Given the description of an element on the screen output the (x, y) to click on. 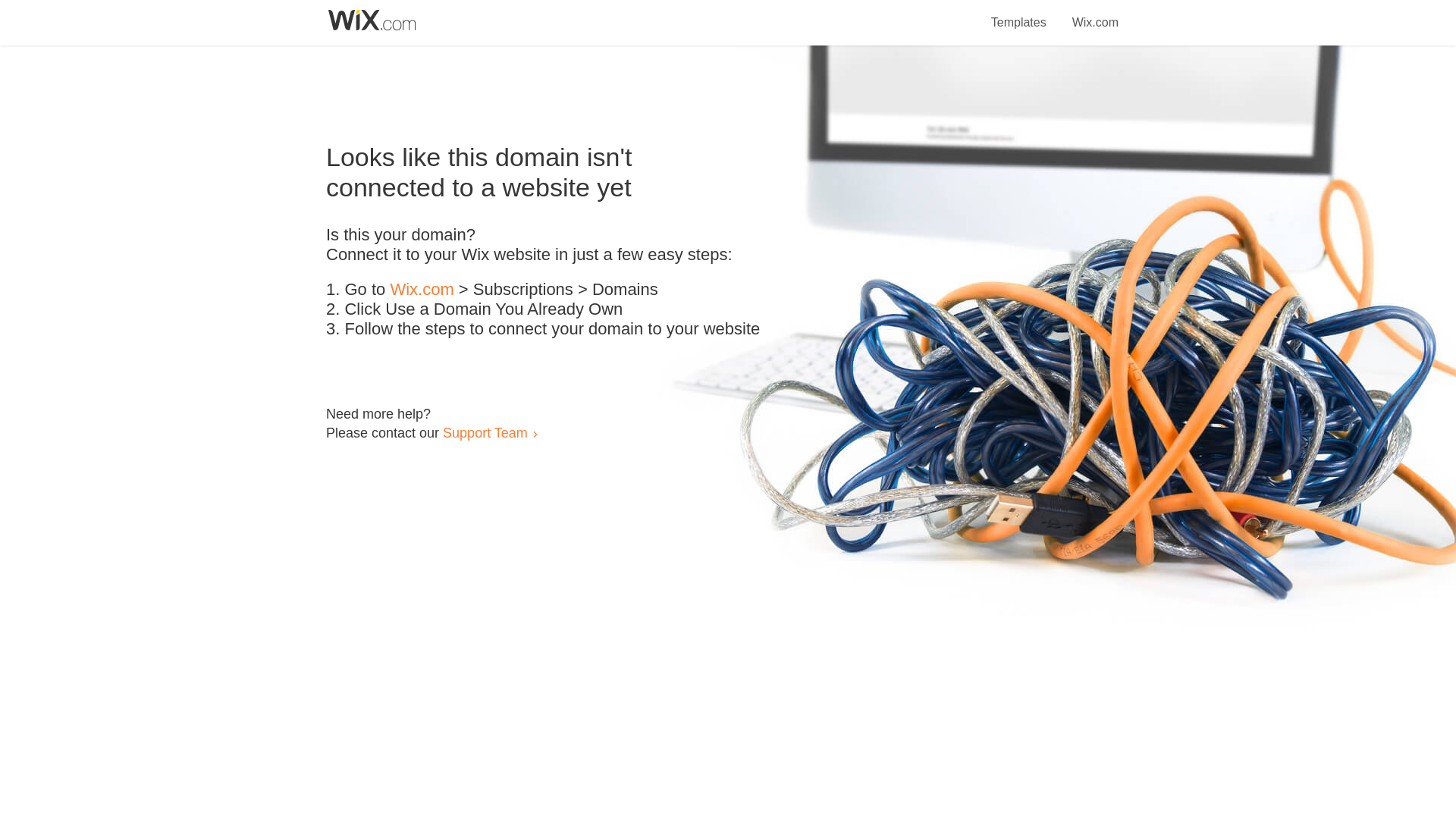
Templates (1018, 14)
Wix.com (1095, 14)
Support Team (484, 432)
Wix.com (421, 289)
